Given the description of an element on the screen output the (x, y) to click on. 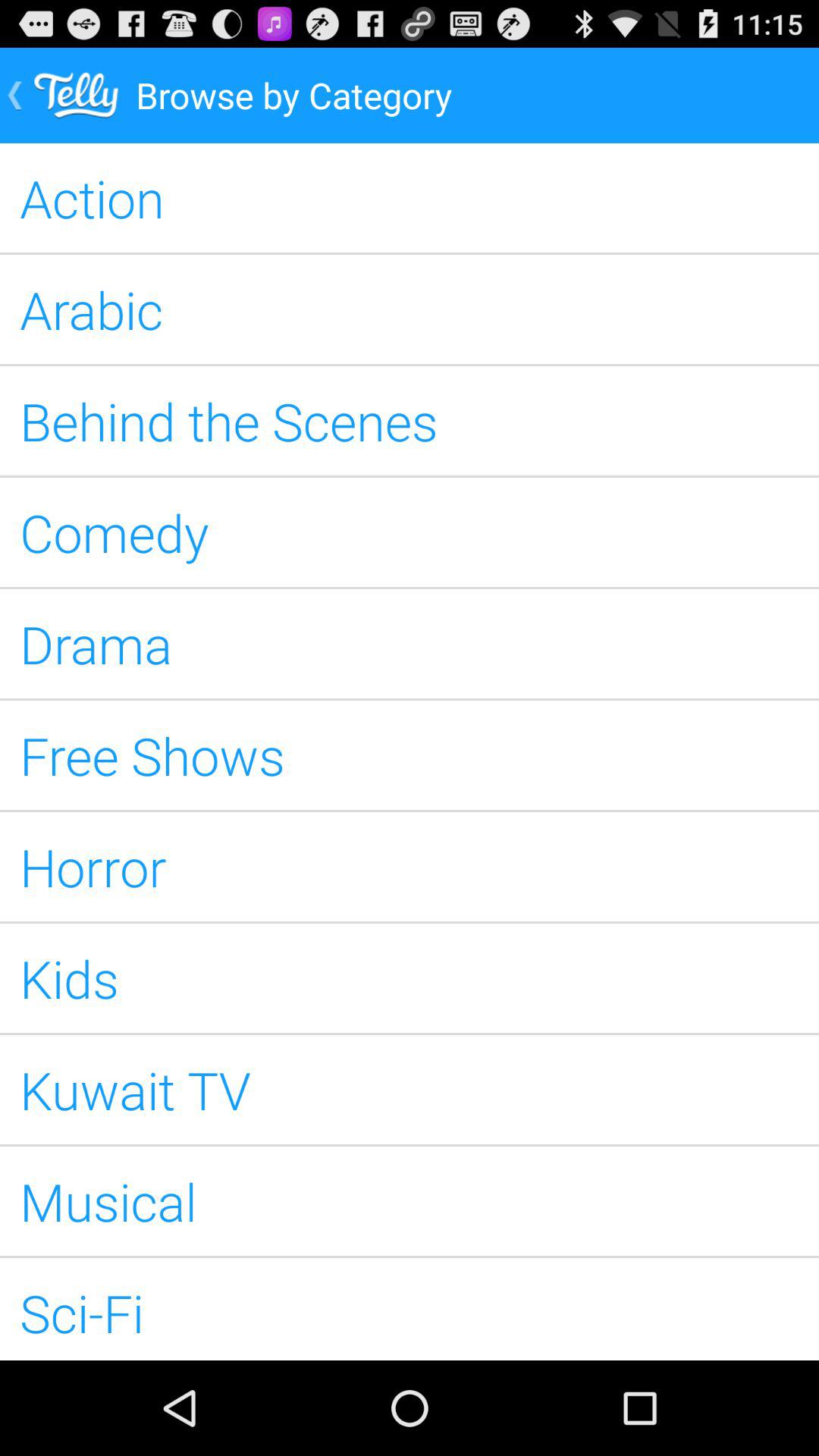
press icon above the arabic item (409, 197)
